Given the description of an element on the screen output the (x, y) to click on. 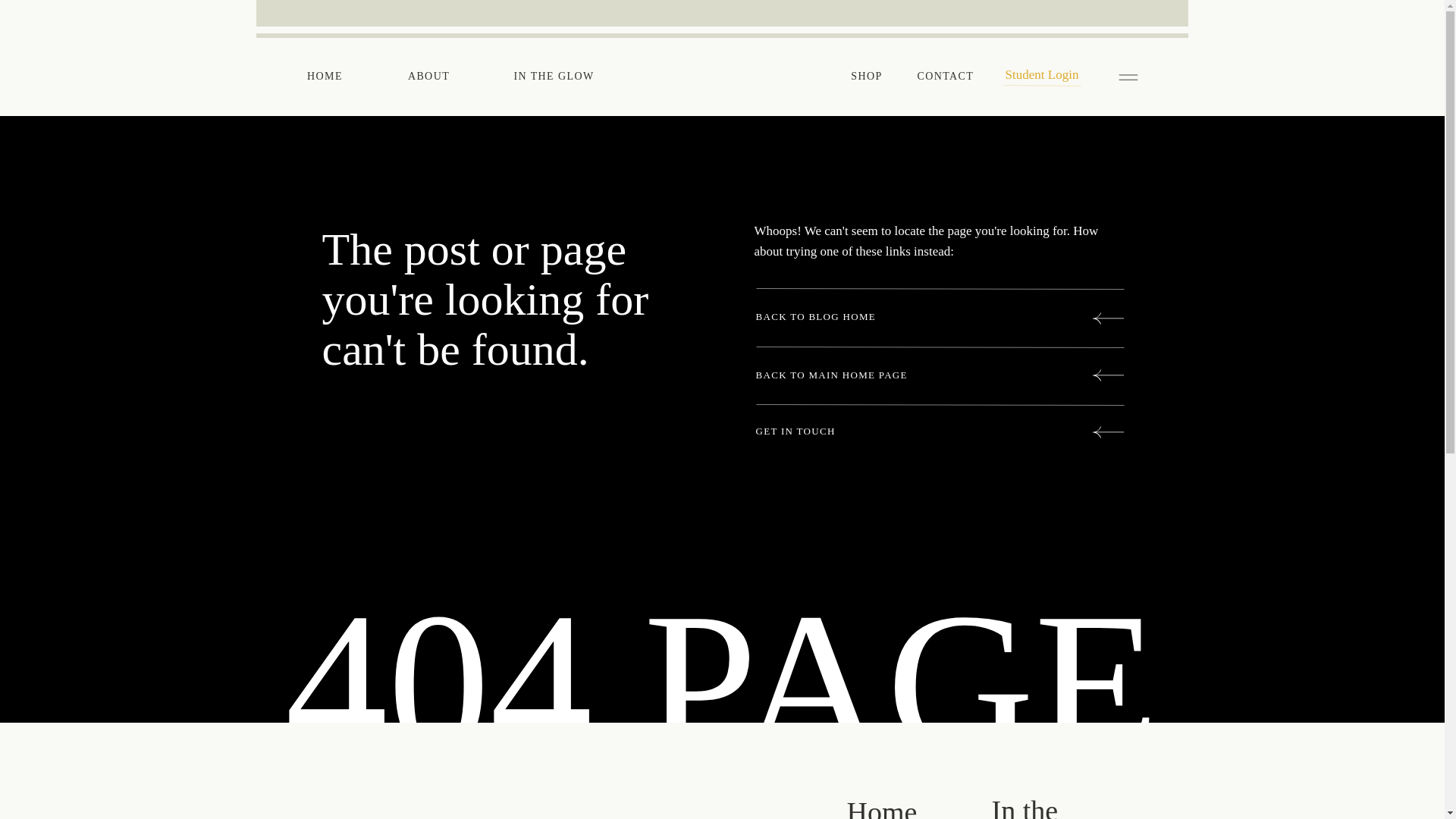
HOME (324, 75)
IN THE GLOW (553, 75)
ABOUT (428, 75)
SHOP (866, 75)
